Given the description of an element on the screen output the (x, y) to click on. 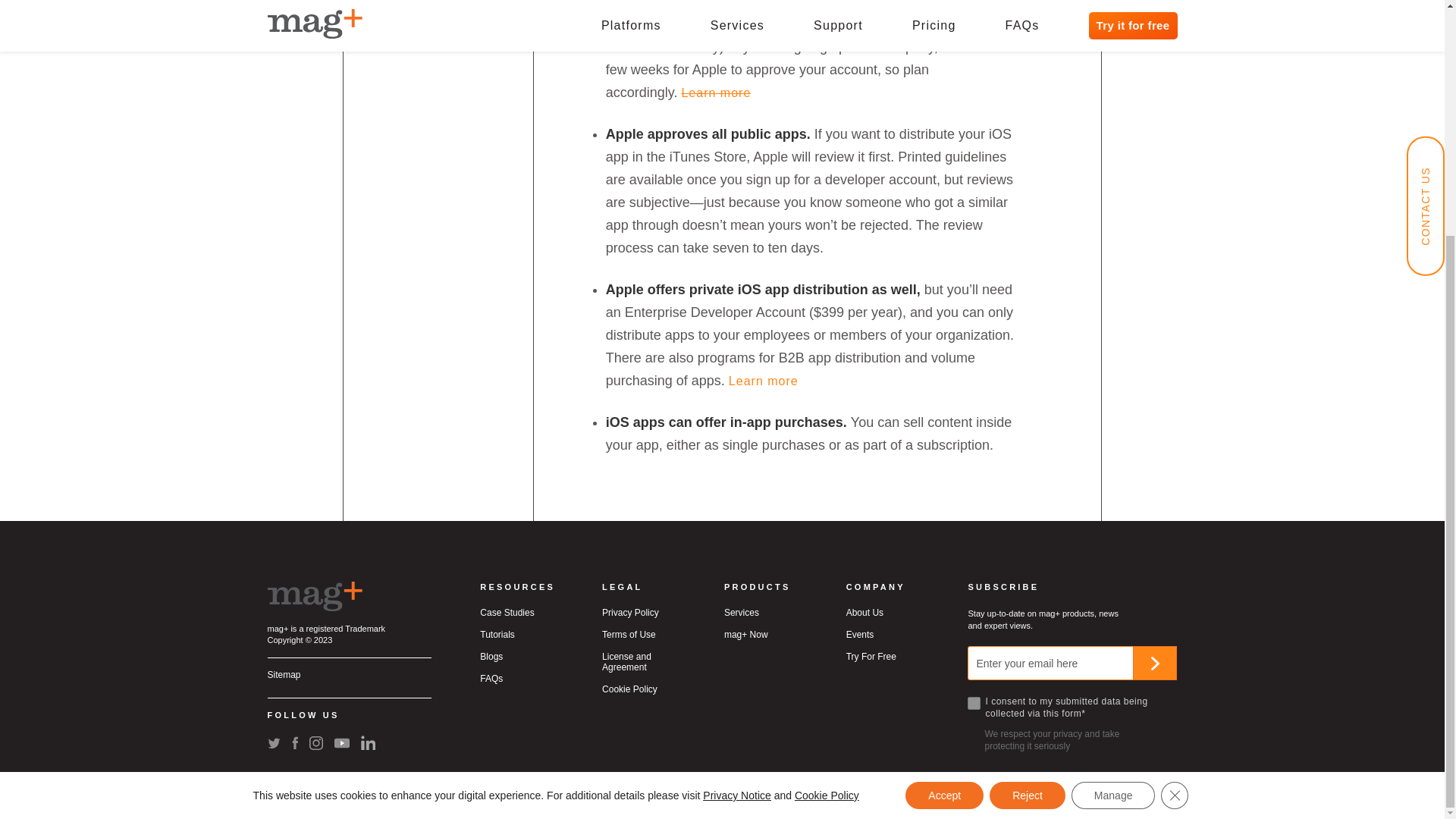
on (973, 703)
Apple Business Account (763, 380)
Sitemap (282, 674)
Learn more (763, 380)
Magplus Logo (314, 596)
Subscribe (1154, 663)
Learn more (716, 92)
Apple Developer Program (716, 92)
